Given the description of an element on the screen output the (x, y) to click on. 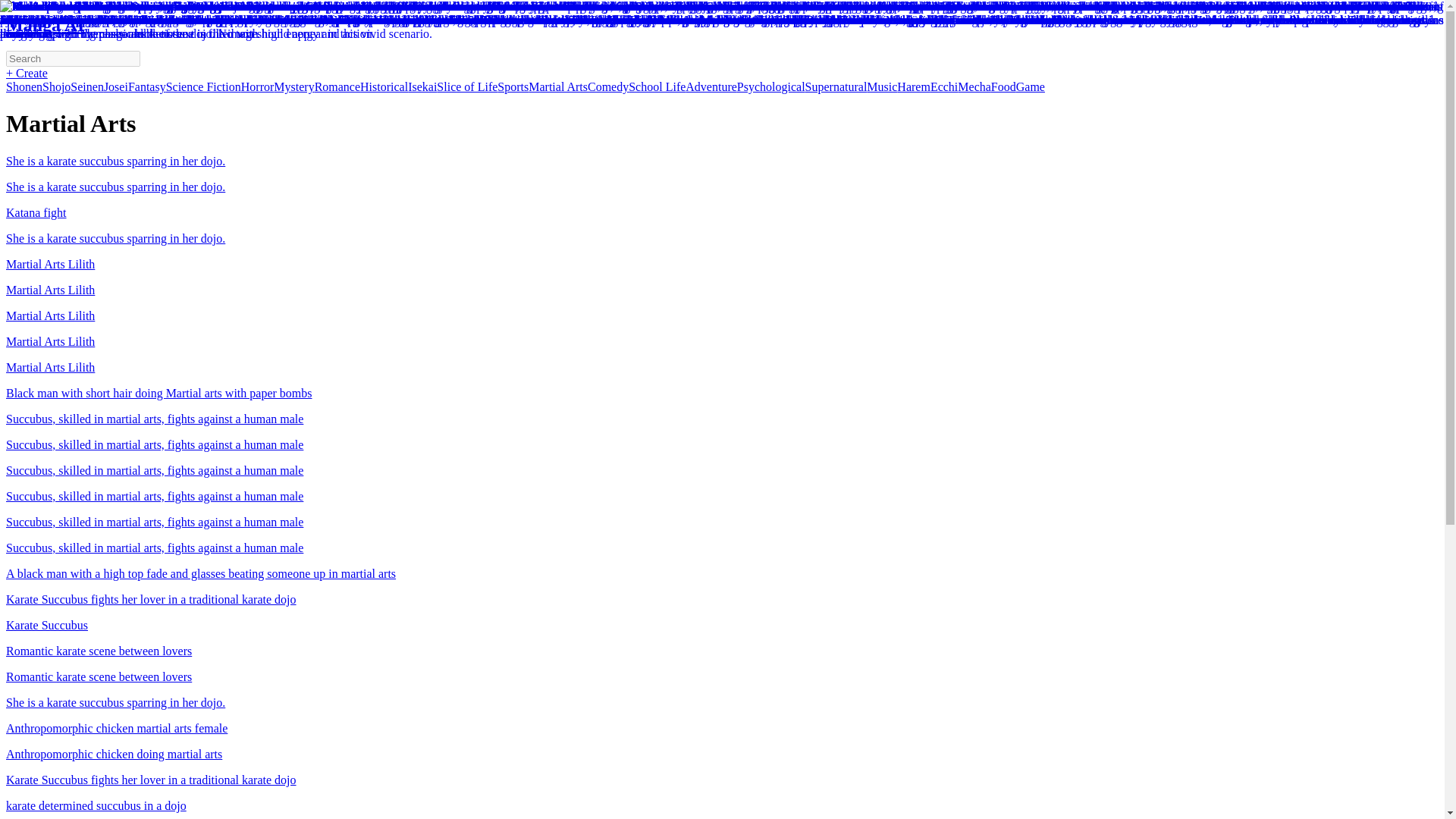
Comedy (608, 86)
Romance (336, 86)
Josei (115, 86)
Martial Arts (558, 86)
Shonen (23, 86)
Food (1003, 86)
Manga AI (44, 25)
Sports (512, 86)
Historical (383, 86)
Music (881, 86)
Isekai (421, 86)
Mystery (293, 86)
Psychological (770, 86)
Fantasy (146, 86)
Slice of Life (466, 86)
